Given the description of an element on the screen output the (x, y) to click on. 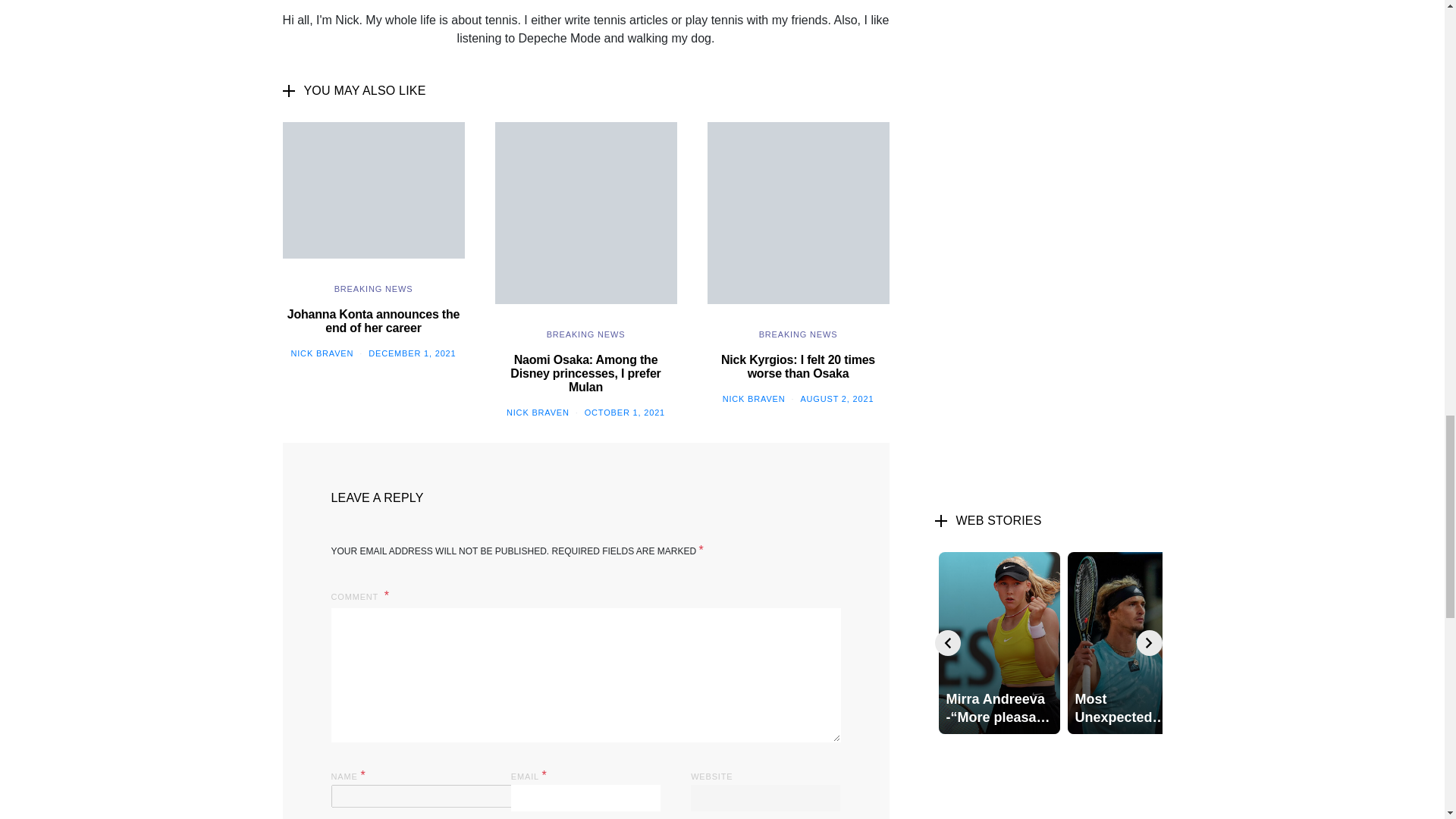
View all posts by Nick Braven (754, 398)
View all posts by Nick Braven (321, 352)
View all posts by Nick Braven (537, 411)
